Given the description of an element on the screen output the (x, y) to click on. 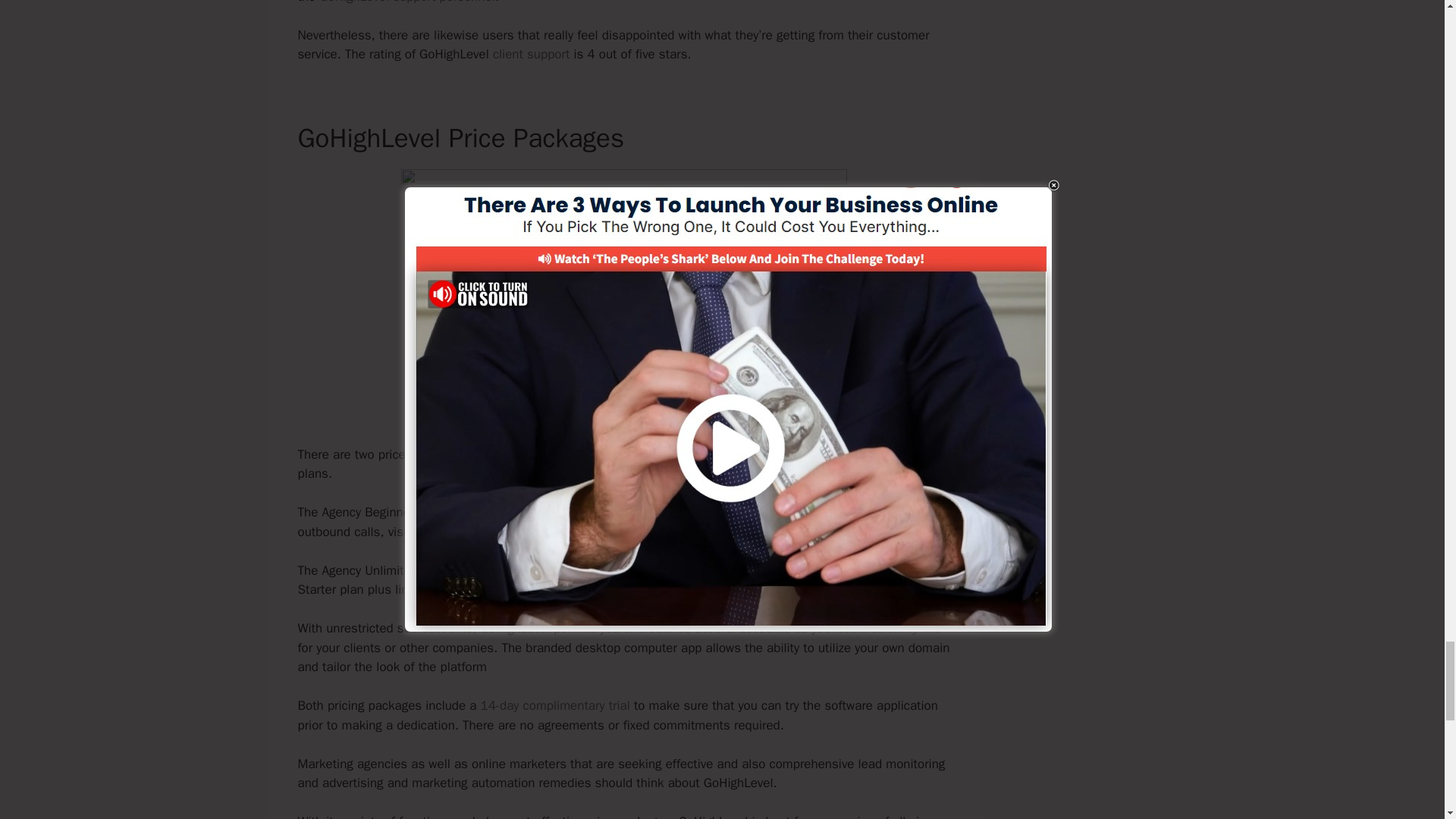
client support (531, 53)
GoHighLevel support personnel (406, 2)
14-day complimentary trial (555, 705)
